Given the description of an element on the screen output the (x, y) to click on. 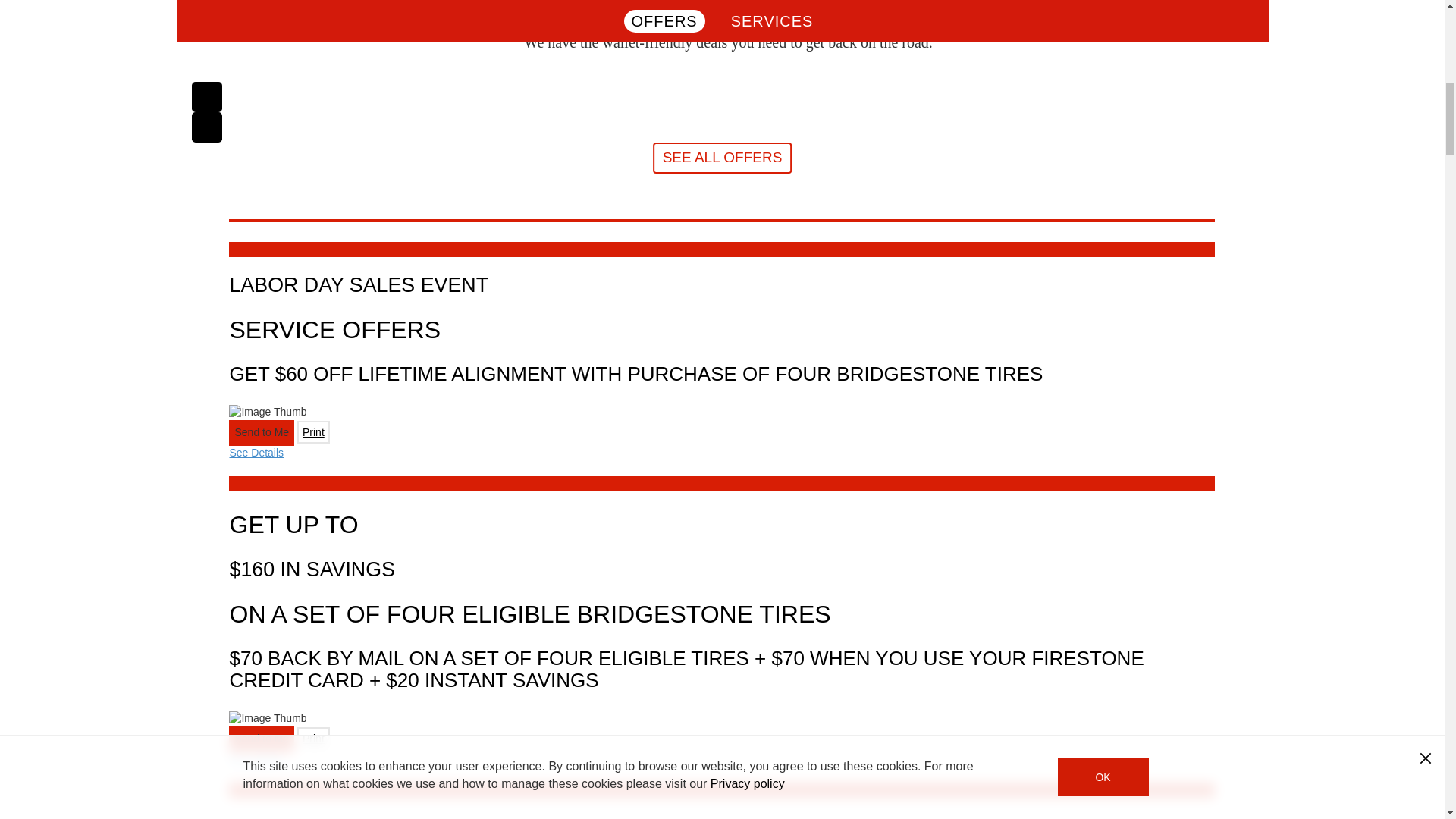
Click here to print this offer (313, 431)
Click here to see additional details for this offer (255, 758)
Click here to send this offer to the phone (261, 432)
Click here to send this offer to the phone (261, 739)
Click here to print this offer (313, 738)
Click here to see additional details for this offer (255, 452)
